Given the description of an element on the screen output the (x, y) to click on. 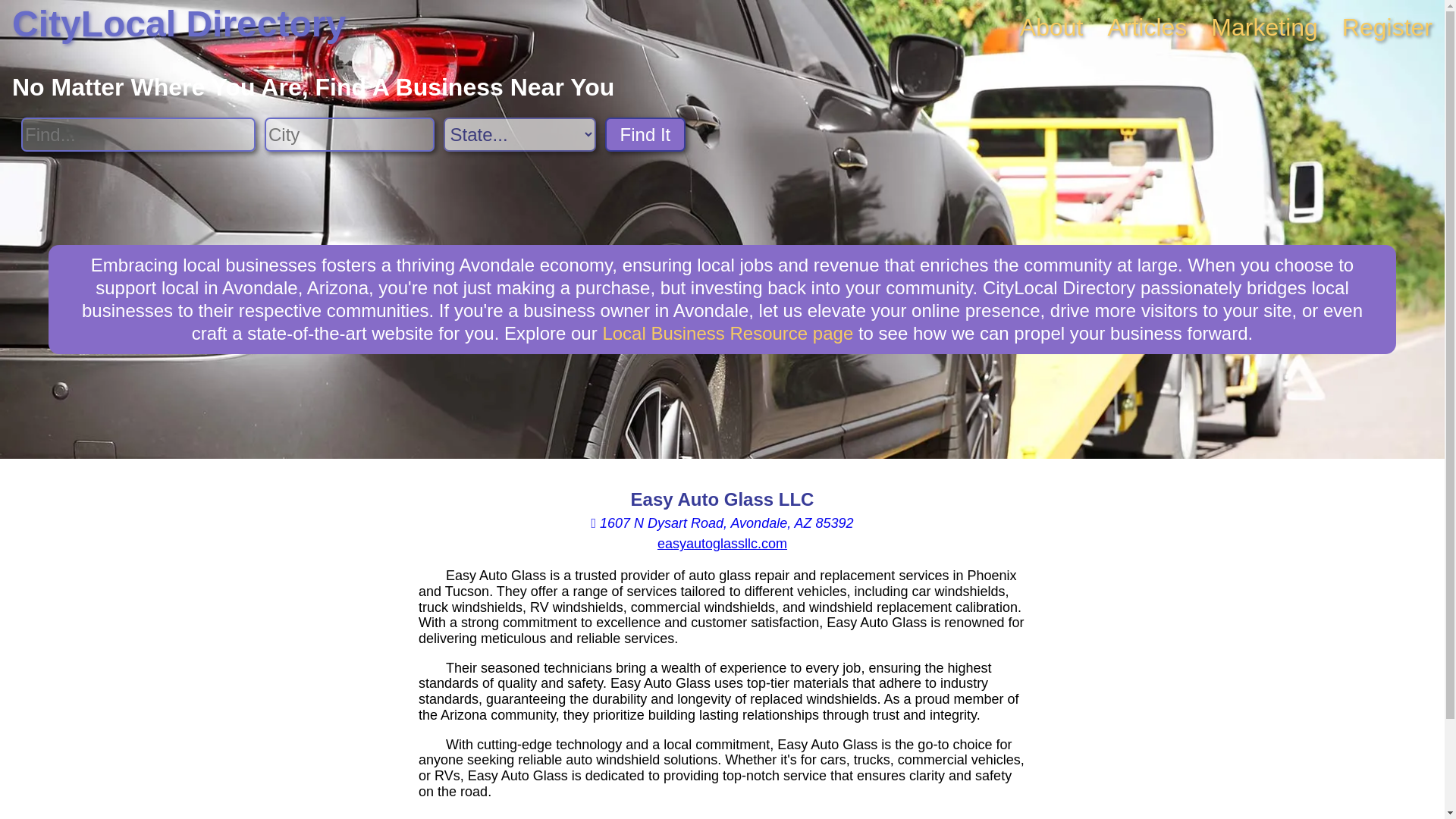
About (1051, 27)
Marketing (1264, 27)
Visit easyautoglassllc.com (722, 543)
Business Marketing Opportunites (1264, 27)
Local Business Resources (727, 332)
Register My Business (1387, 27)
Register (1387, 27)
Articles (1146, 27)
Local Business Resource page (727, 332)
easyautoglassllc.com (722, 543)
